Given the description of an element on the screen output the (x, y) to click on. 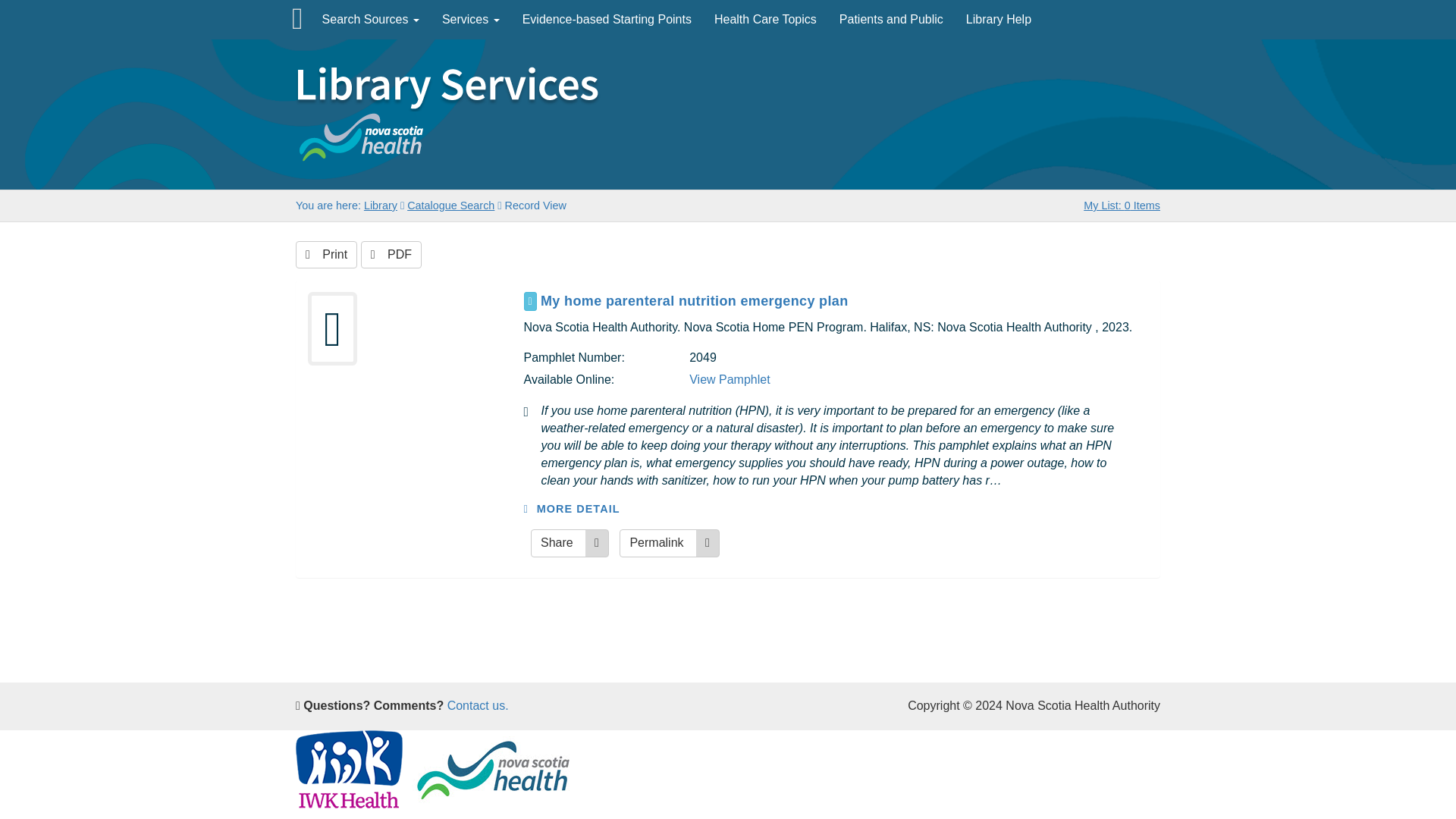
Share (569, 543)
Library (380, 205)
Search Sources (370, 19)
My List: 0 Items (1121, 205)
Health Care Topics (765, 19)
Services (470, 19)
Evidence-based Starting Points (607, 19)
Toggle Full Record (844, 301)
Catalogue Search (451, 205)
View Pamphlet (729, 379)
